Given the description of an element on the screen output the (x, y) to click on. 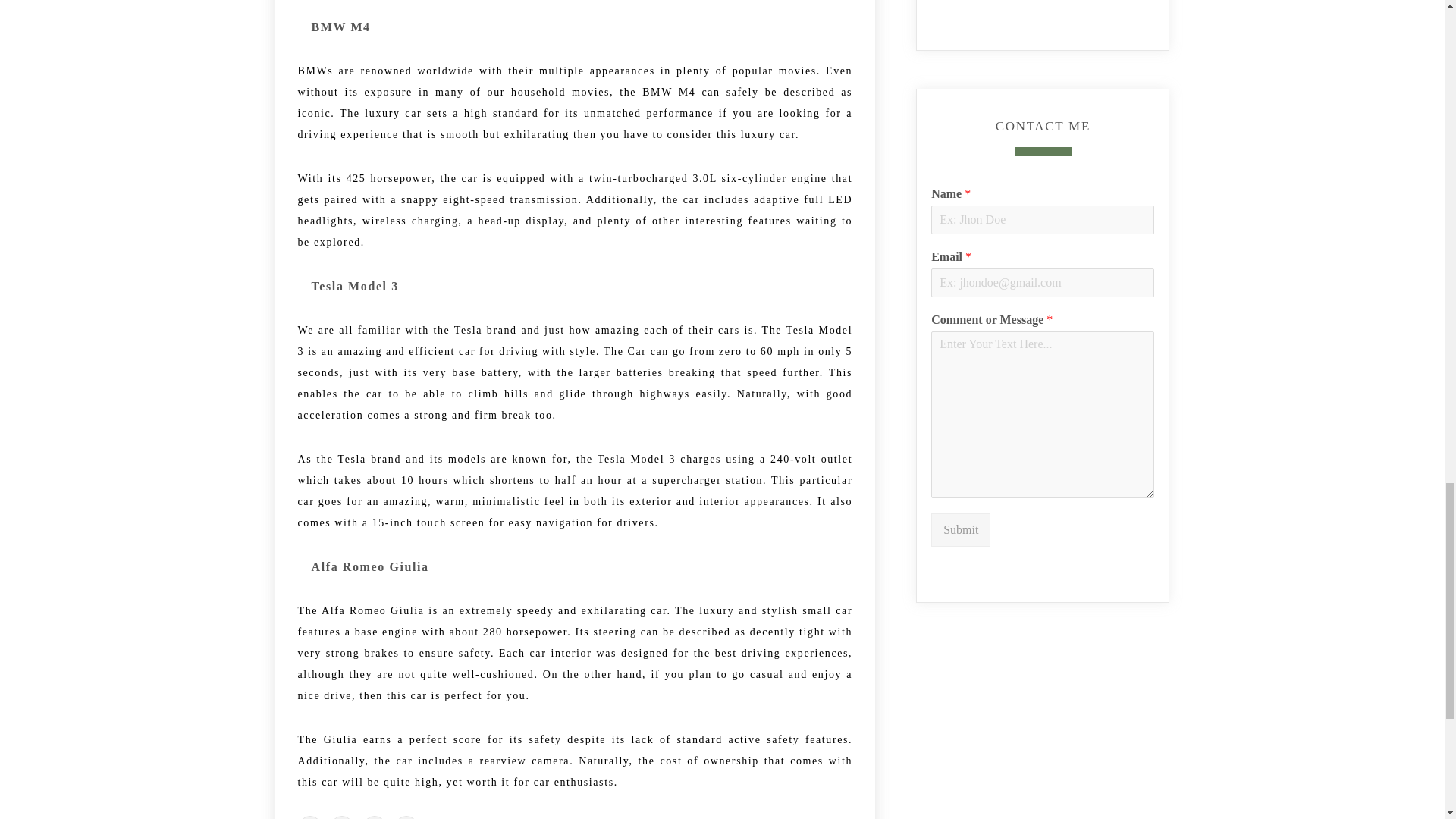
Submit (960, 530)
